Given the description of an element on the screen output the (x, y) to click on. 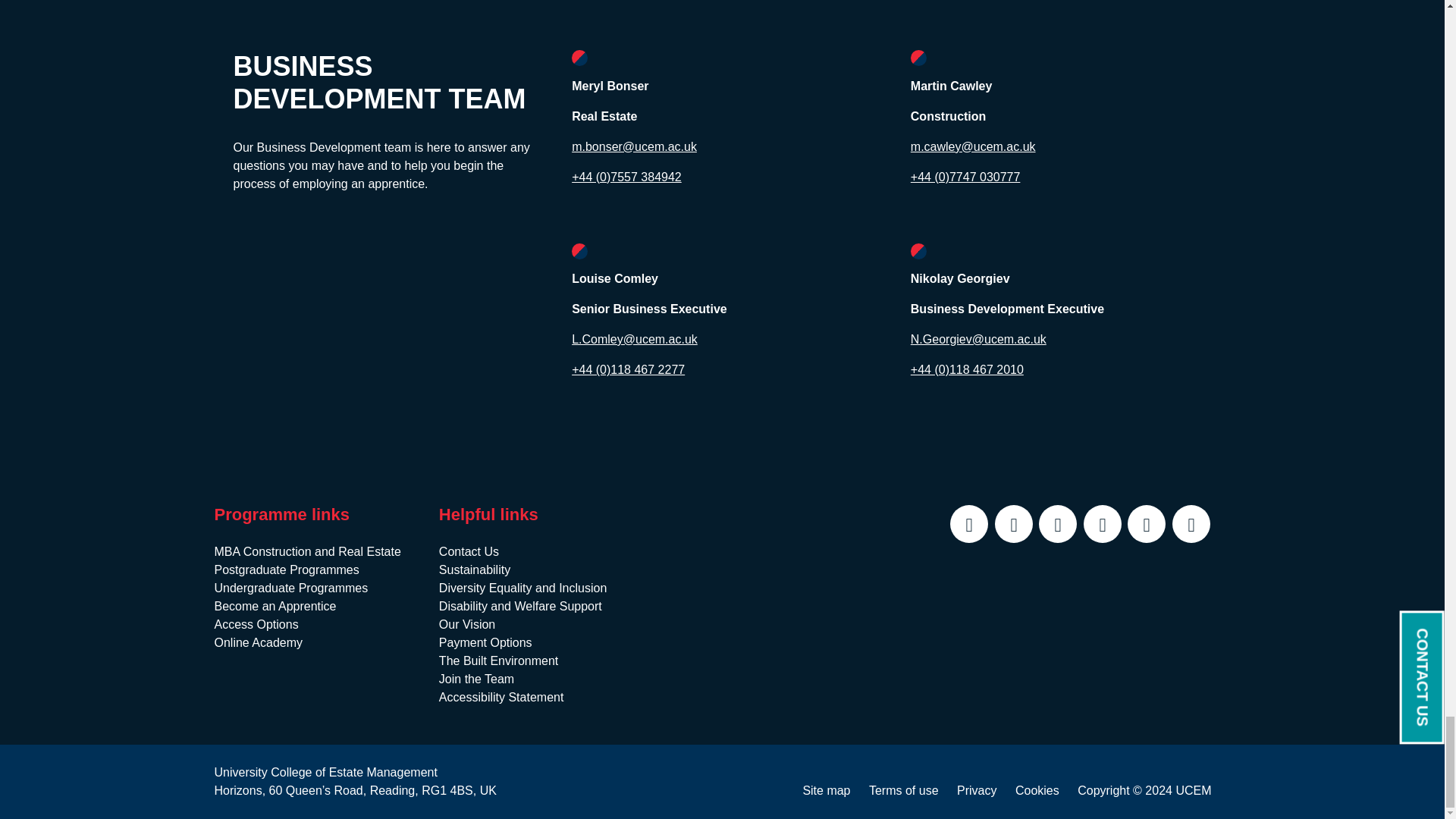
View our Twitter page (969, 523)
View our YouTube channel (1102, 523)
View our Facebook page (1058, 523)
View our TikTok page (1190, 523)
View our LinkedIn page (1013, 523)
View our Instagram page (1146, 523)
